Given the description of an element on the screen output the (x, y) to click on. 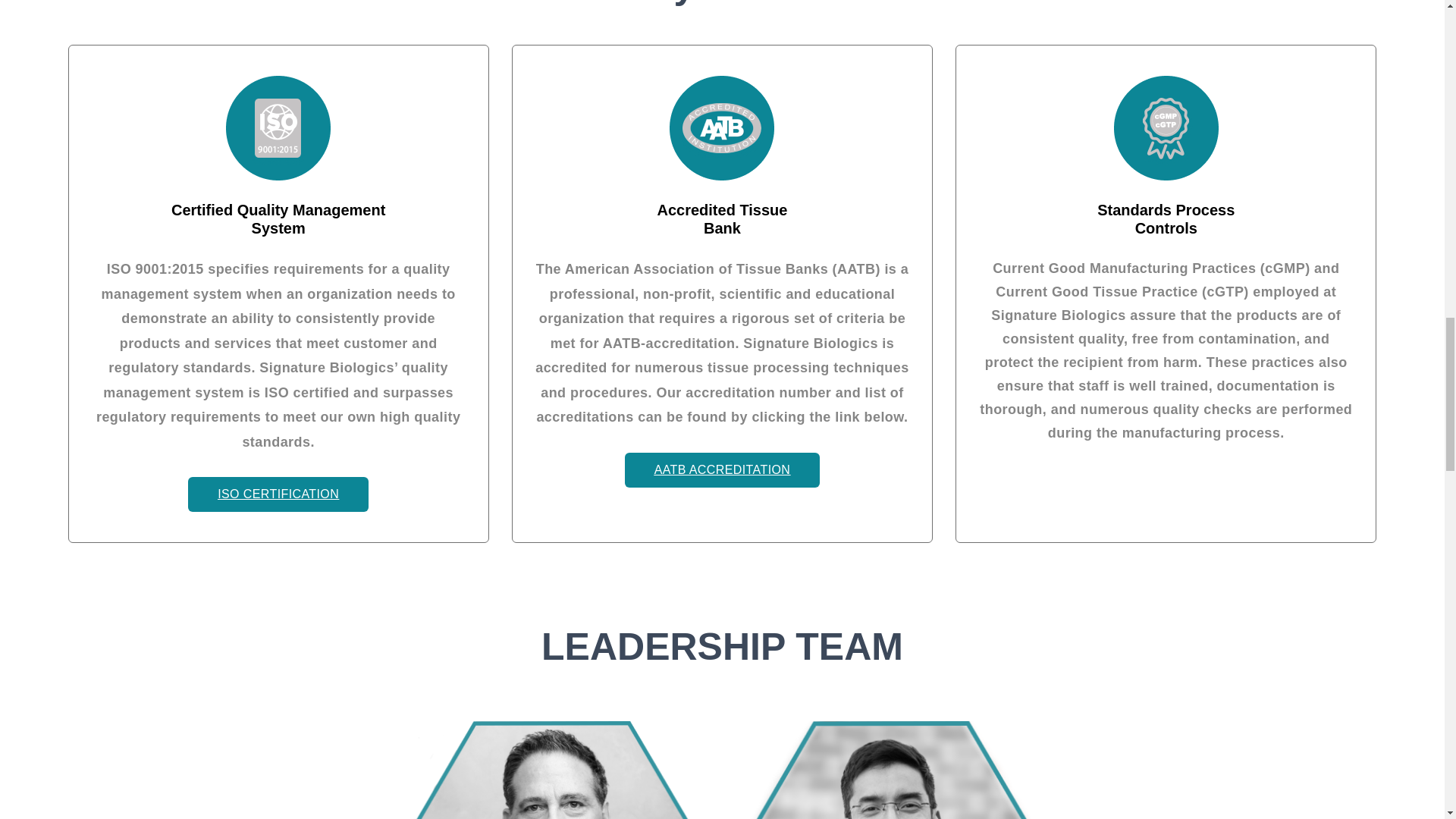
AATB ACCREDITATION (722, 469)
ISO CERTIFICATION (277, 493)
